Given the description of an element on the screen output the (x, y) to click on. 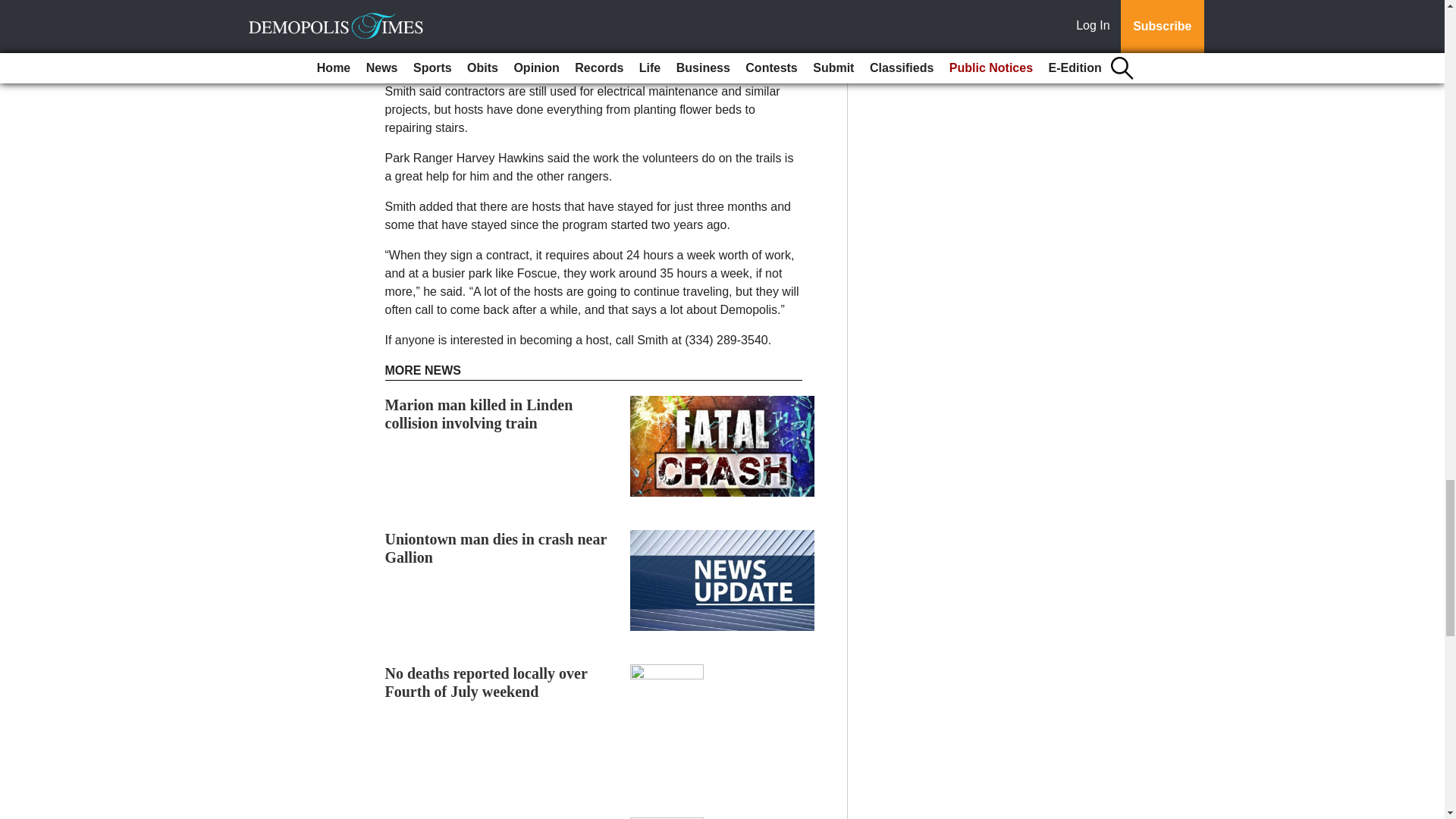
No deaths reported locally over Fourth of July weekend (486, 682)
Marion man killed in Linden collision involving train (479, 413)
Uniontown man dies in crash near Gallion (496, 547)
Uniontown man dies in crash near Gallion (496, 547)
No deaths reported locally over Fourth of July weekend (486, 682)
Marion man killed in Linden collision involving train (479, 413)
